Given the description of an element on the screen output the (x, y) to click on. 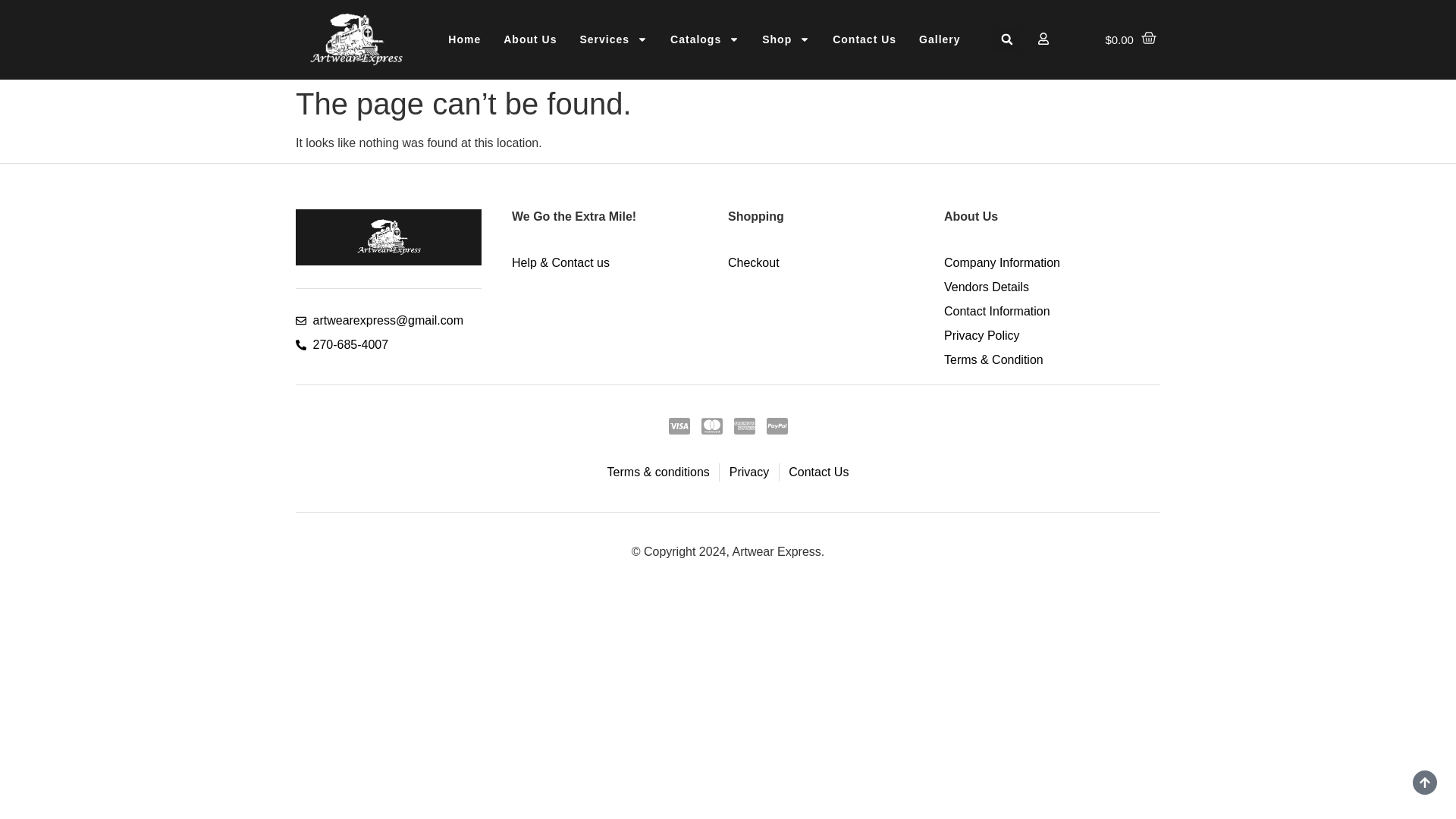
Shop (786, 39)
Catalogs (705, 39)
About Us (529, 39)
Contact Us (864, 39)
Home (464, 39)
Services (613, 39)
Gallery (939, 39)
